Given the description of an element on the screen output the (x, y) to click on. 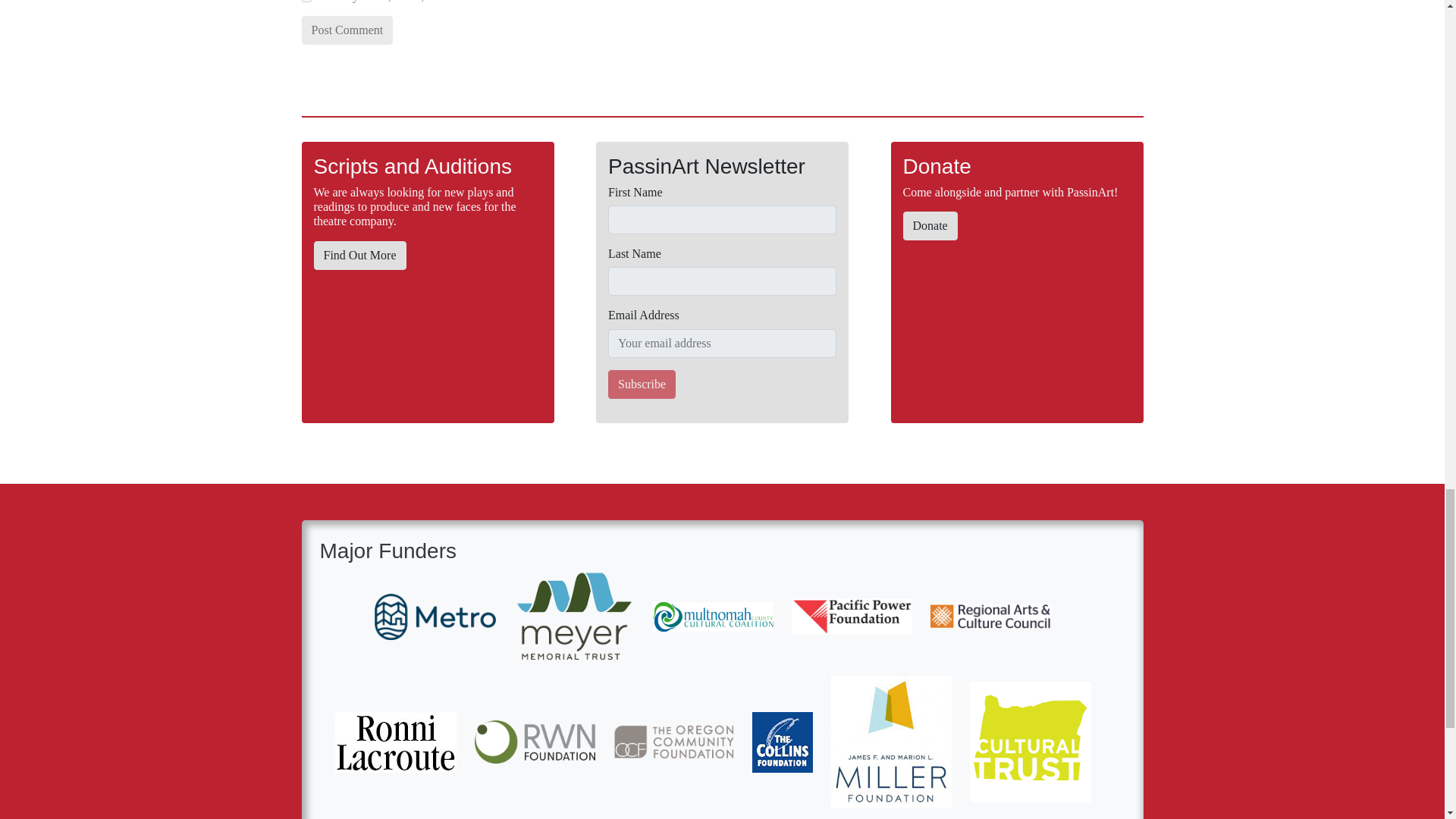
Post Comment (347, 29)
Subscribe (641, 384)
